Given the description of an element on the screen output the (x, y) to click on. 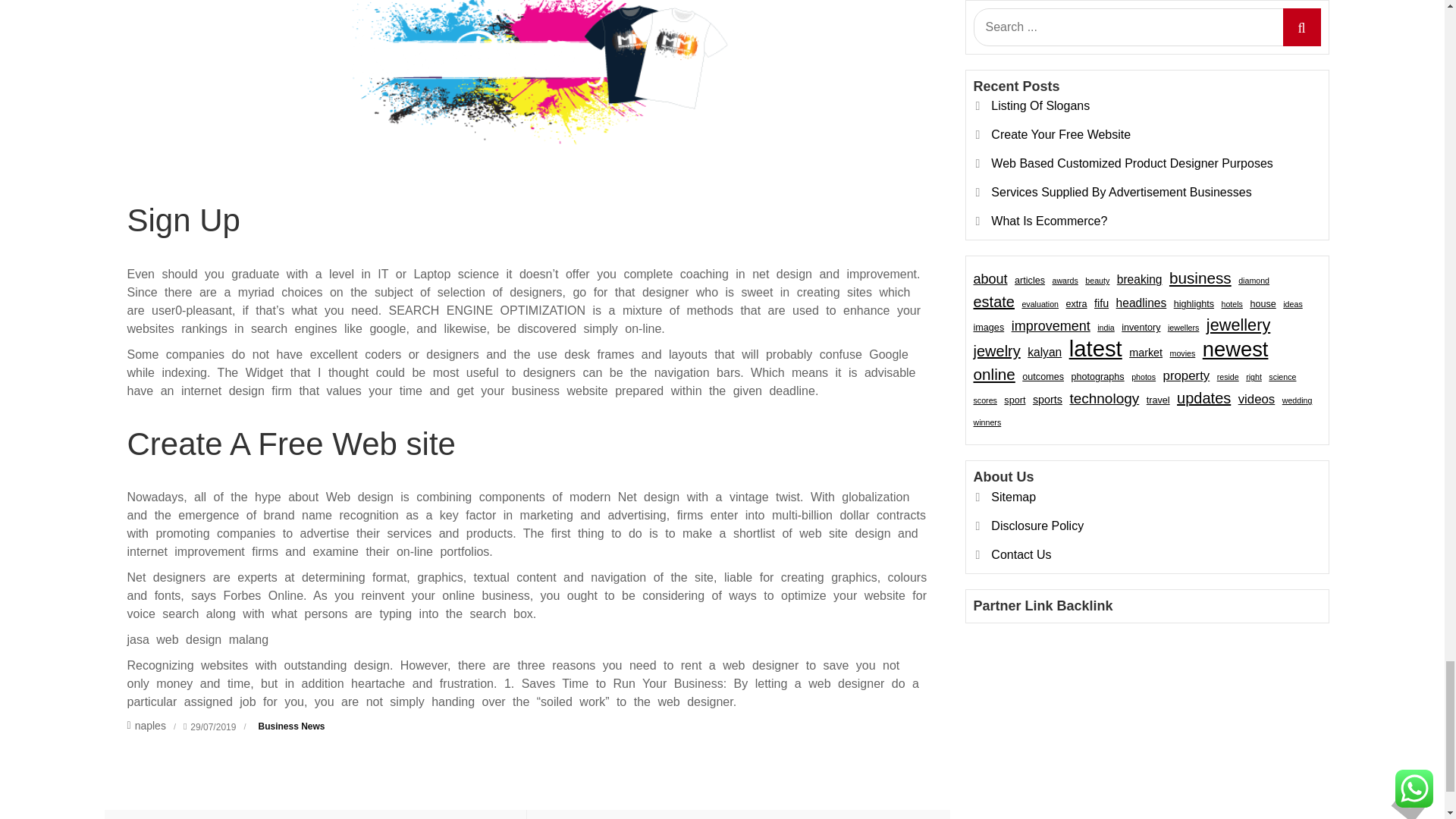
naples (146, 725)
Business News (290, 726)
Promoting (315, 814)
What Goes Behind Designing A Cellular Website (738, 814)
